Given the description of an element on the screen output the (x, y) to click on. 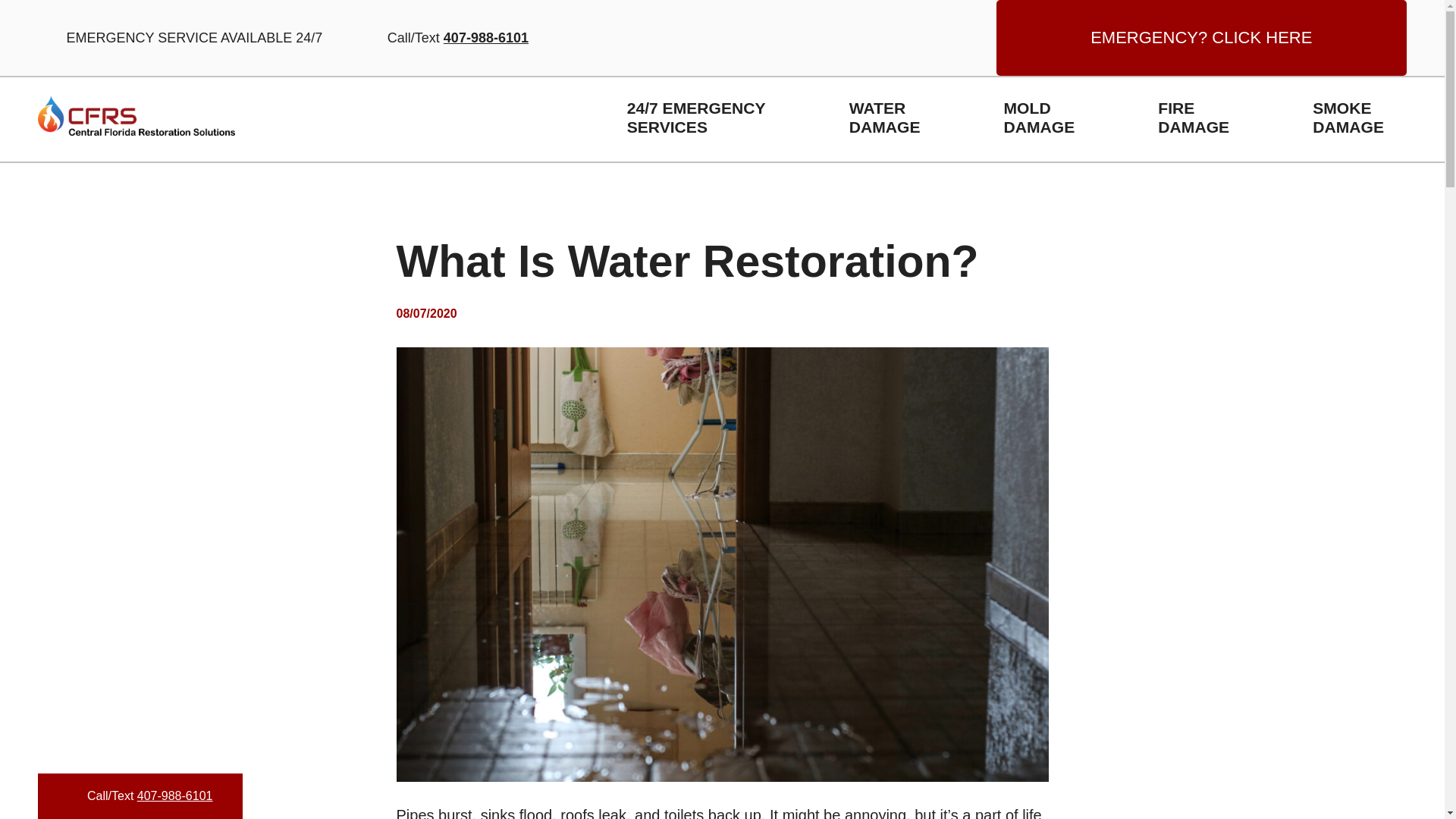
EMERGENCY? CLICK HERE (1212, 118)
